Given the description of an element on the screen output the (x, y) to click on. 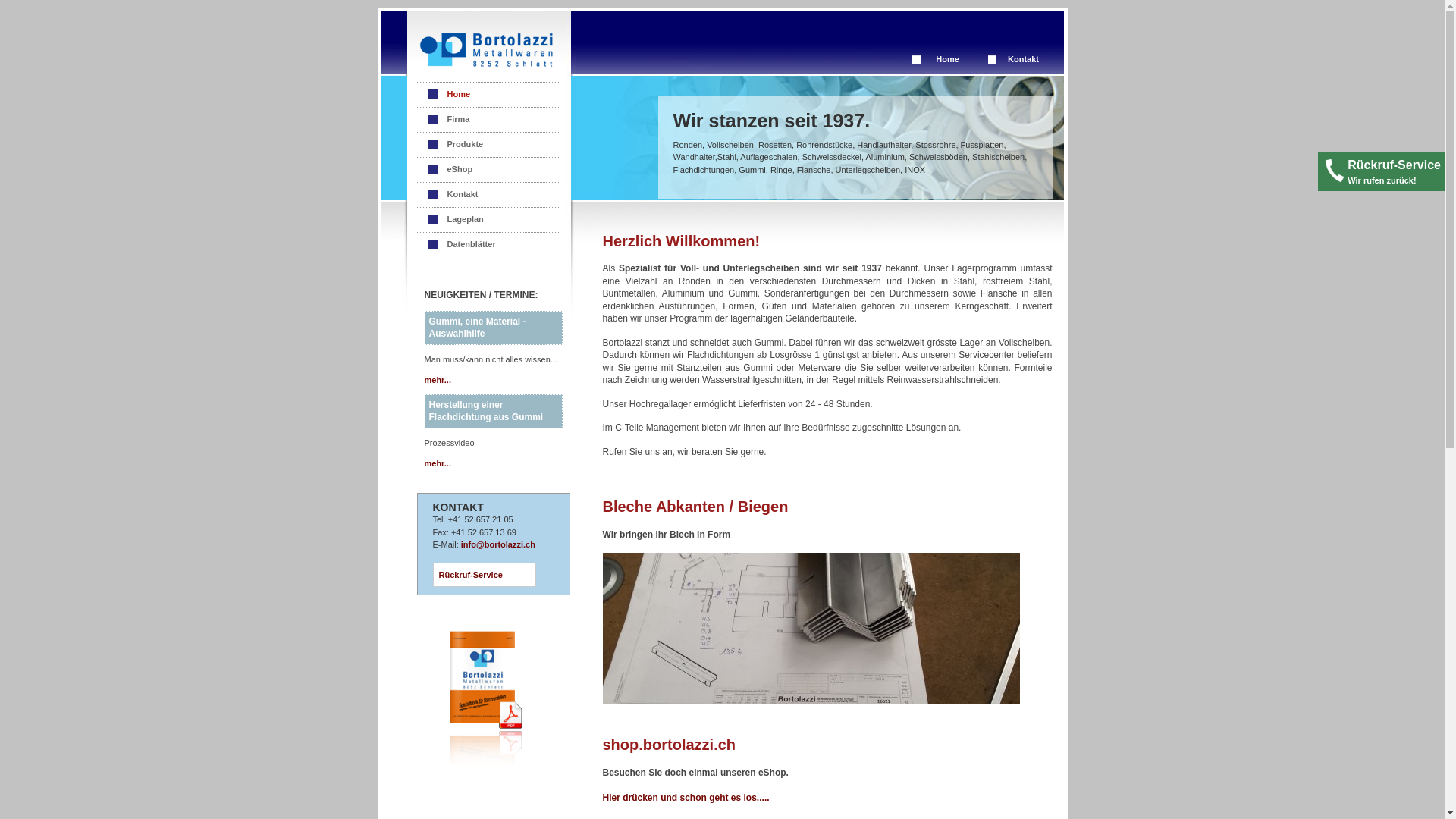
Produkte Element type: text (490, 143)
mehr... Element type: text (437, 462)
Lageplan Element type: text (490, 219)
Kontakt Element type: text (490, 194)
Kontakt Element type: text (1023, 59)
Firma Element type: text (490, 118)
Abkanten / Biegen Element type: hover (810, 628)
mehr... Element type: text (437, 379)
Home Element type: text (490, 93)
eShop Element type: text (490, 169)
Home Element type: text (947, 59)
info@bortolazzi.ch Element type: text (498, 544)
